Given the description of an element on the screen output the (x, y) to click on. 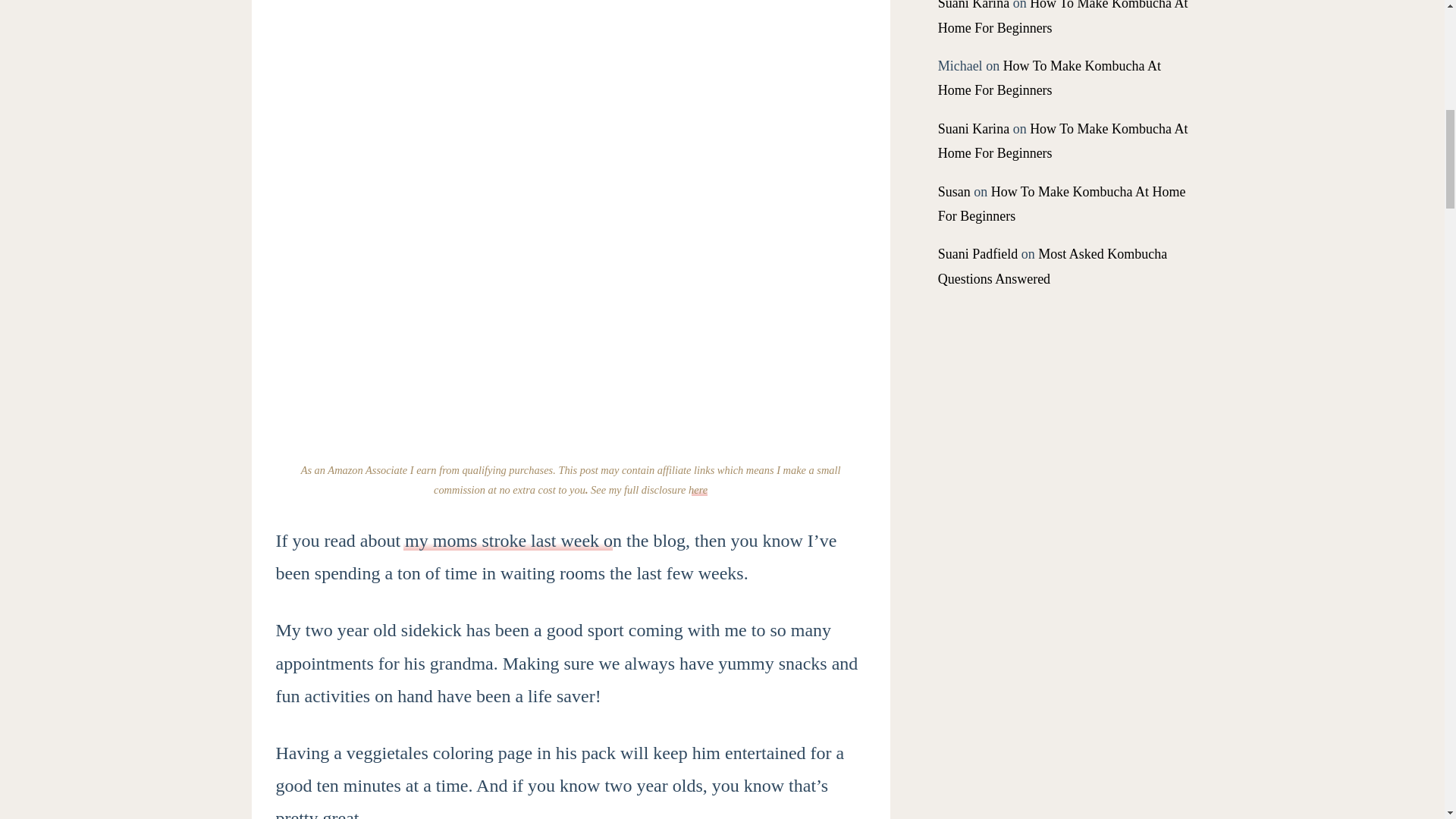
here (697, 490)
my moms stroke last week o (506, 540)
